Given the description of an element on the screen output the (x, y) to click on. 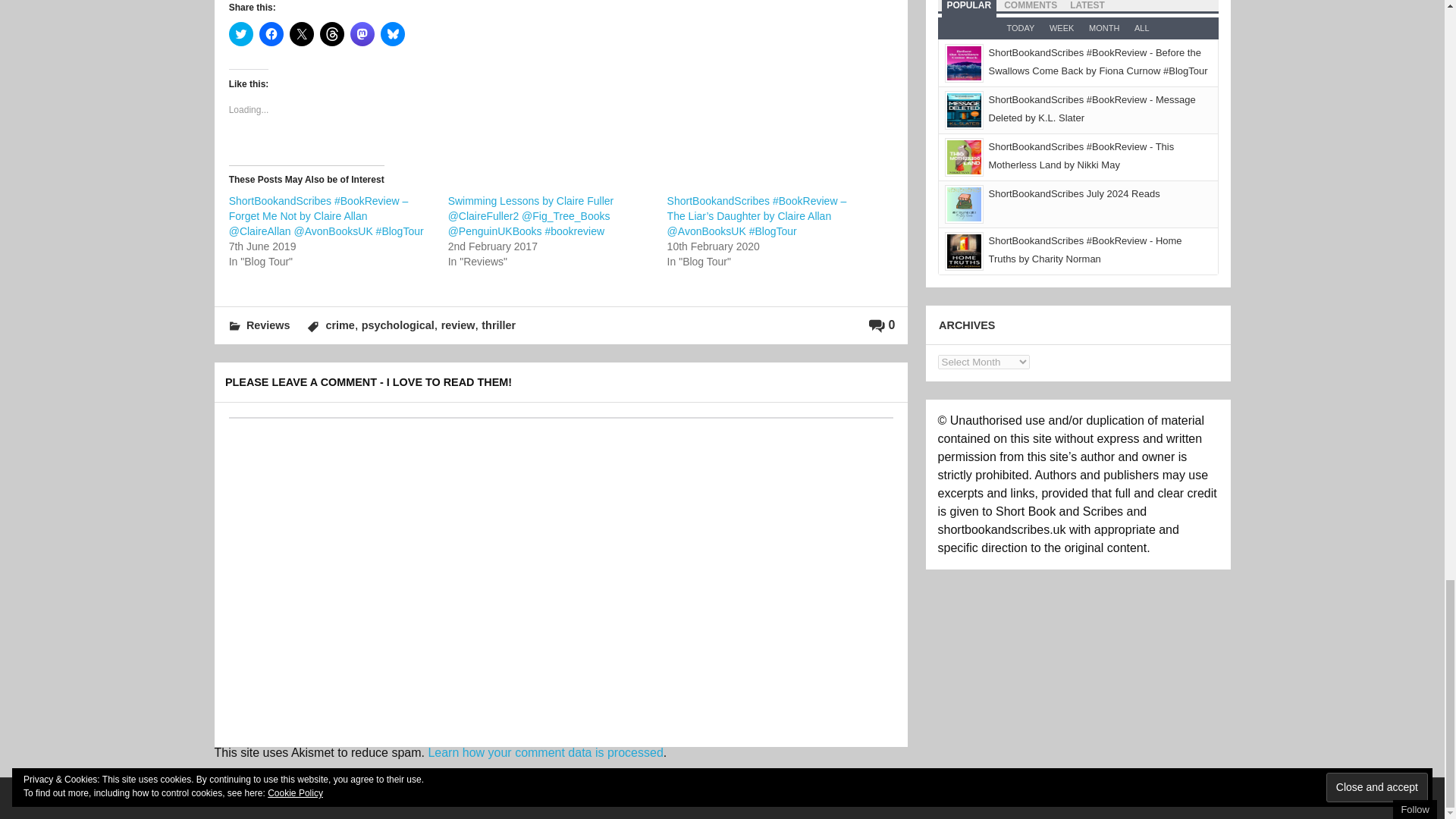
crime (338, 325)
Click to share on Facebook (271, 33)
0 (882, 324)
Click to share on Mastodon (362, 33)
Click to share on Threads (331, 33)
Reviews (267, 325)
Click to share on Twitter (240, 33)
Click to share on Bluesky (392, 33)
psychological (397, 325)
